Given the description of an element on the screen output the (x, y) to click on. 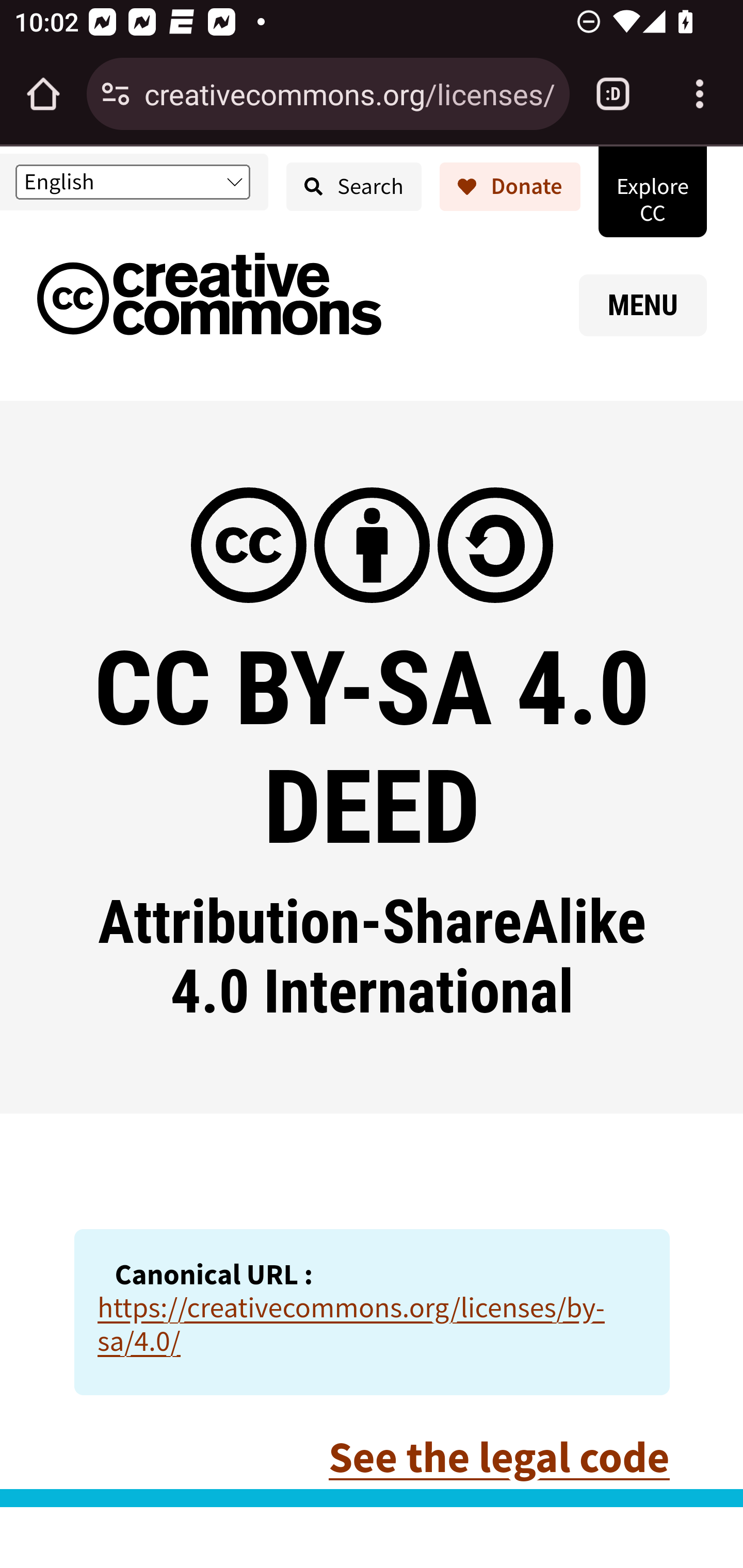
Open the home page (43, 93)
Connection is secure (115, 93)
Switch or close tabs (612, 93)
Customize and control Google Chrome (699, 93)
creativecommons.org/licenses/by-sa/4.0/ (349, 92)
Explore CC (652, 191)
English (132, 181)
Search (353, 187)
Donate (509, 187)
Creative Commons (209, 298)
MENU (643, 305)
https://creativecommons.org/licenses/by-sa/4.0/ (350, 1323)
See the legal code (497, 1456)
